Given the description of an element on the screen output the (x, y) to click on. 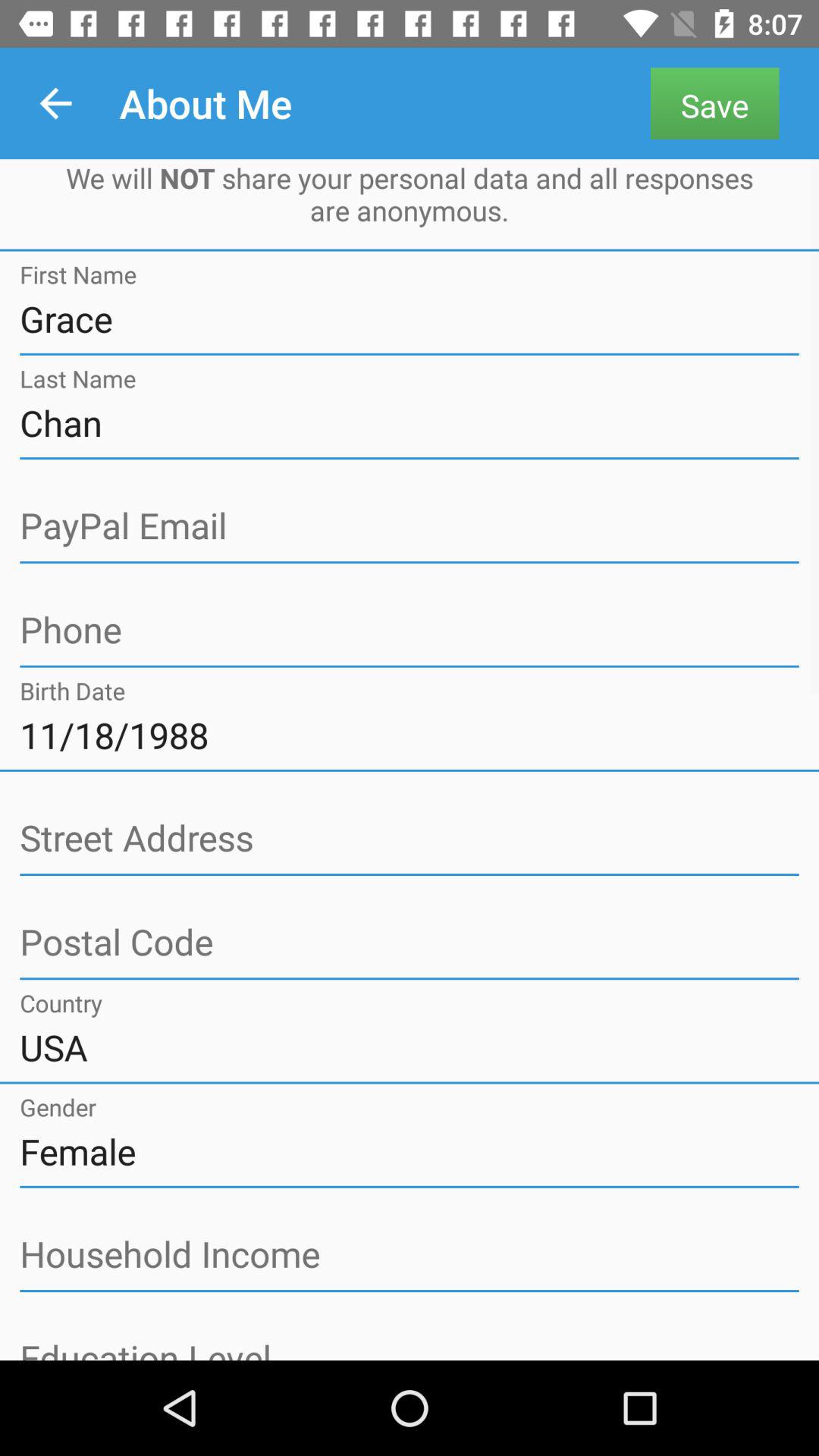
address page (409, 630)
